Given the description of an element on the screen output the (x, y) to click on. 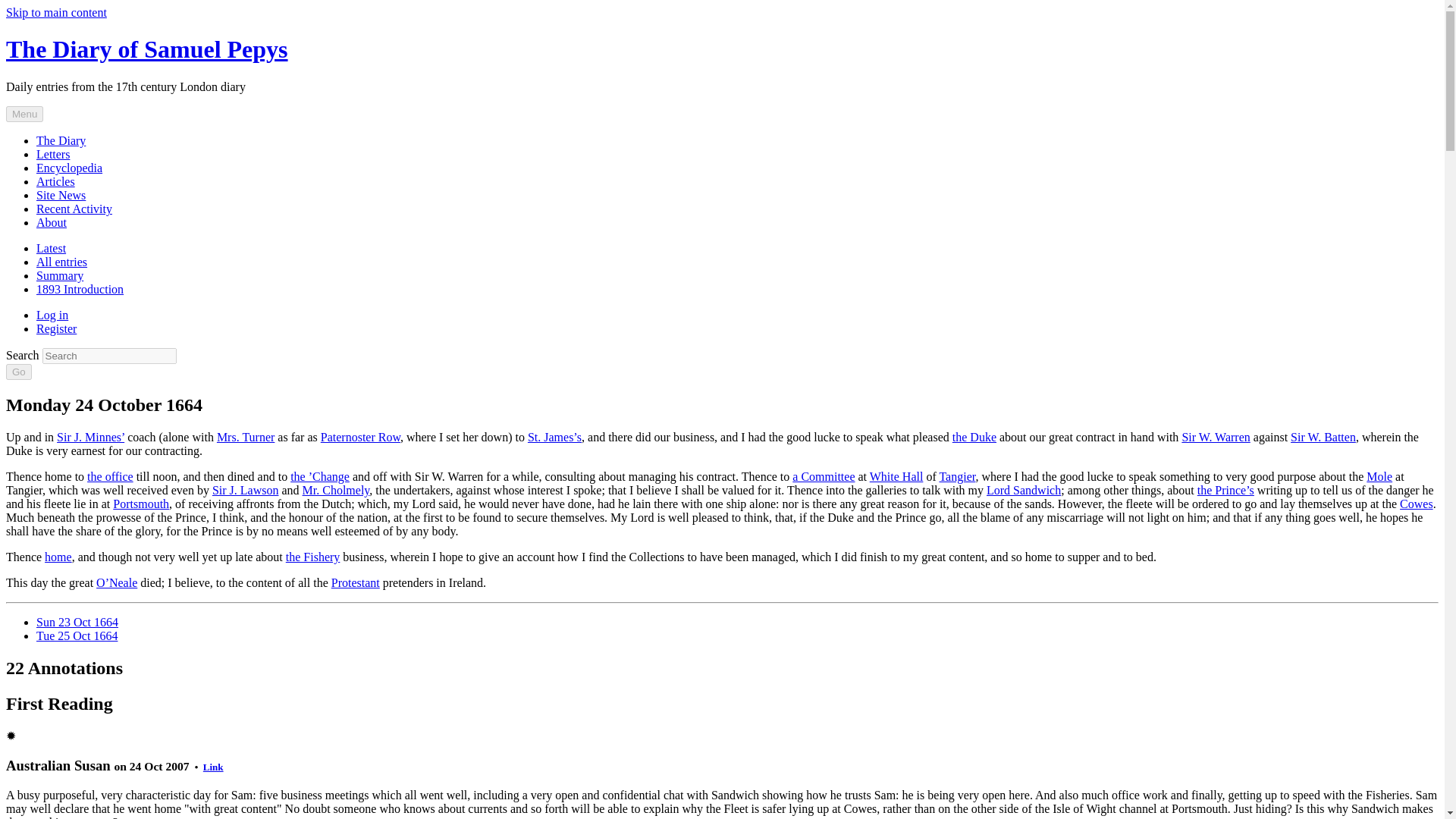
Skip to main content (55, 11)
a Committee (823, 476)
Earlier entry (76, 621)
Sir W. Batten (1322, 436)
Later entry (76, 635)
Menu (24, 114)
About (51, 222)
Sir J. Lawson (245, 490)
Log in (52, 314)
Lord Sandwich (1024, 490)
